Given the description of an element on the screen output the (x, y) to click on. 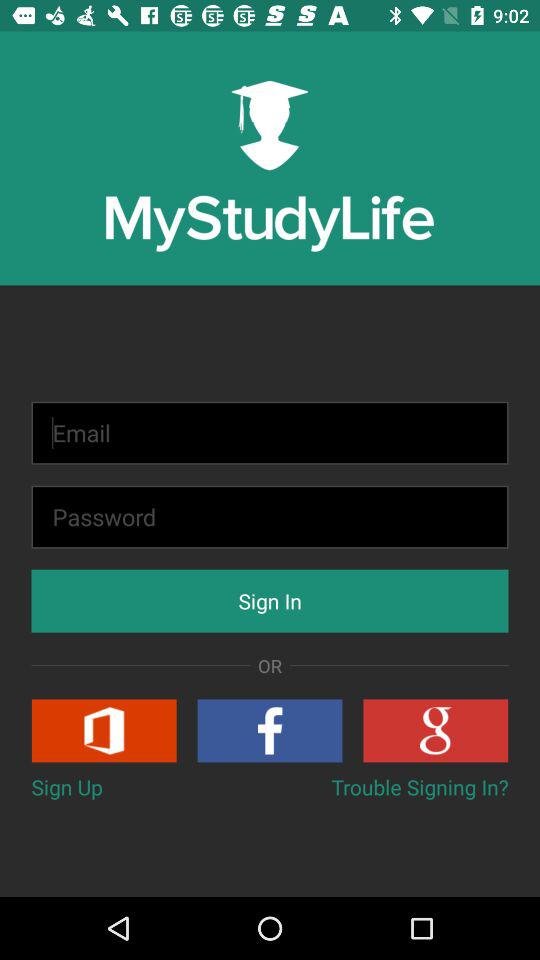
enter email address (269, 432)
